Given the description of an element on the screen output the (x, y) to click on. 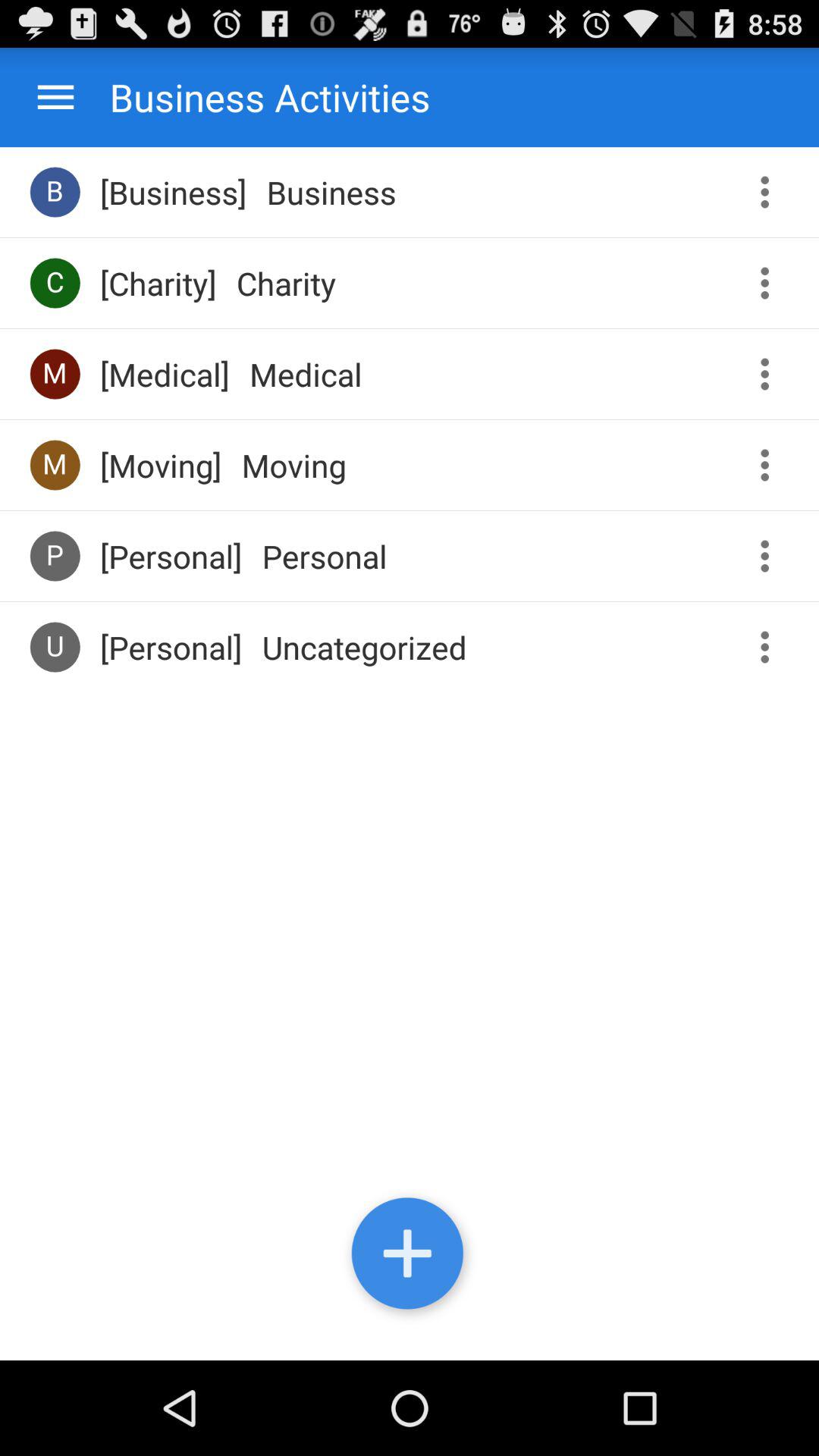
more details (770, 465)
